Given the description of an element on the screen output the (x, y) to click on. 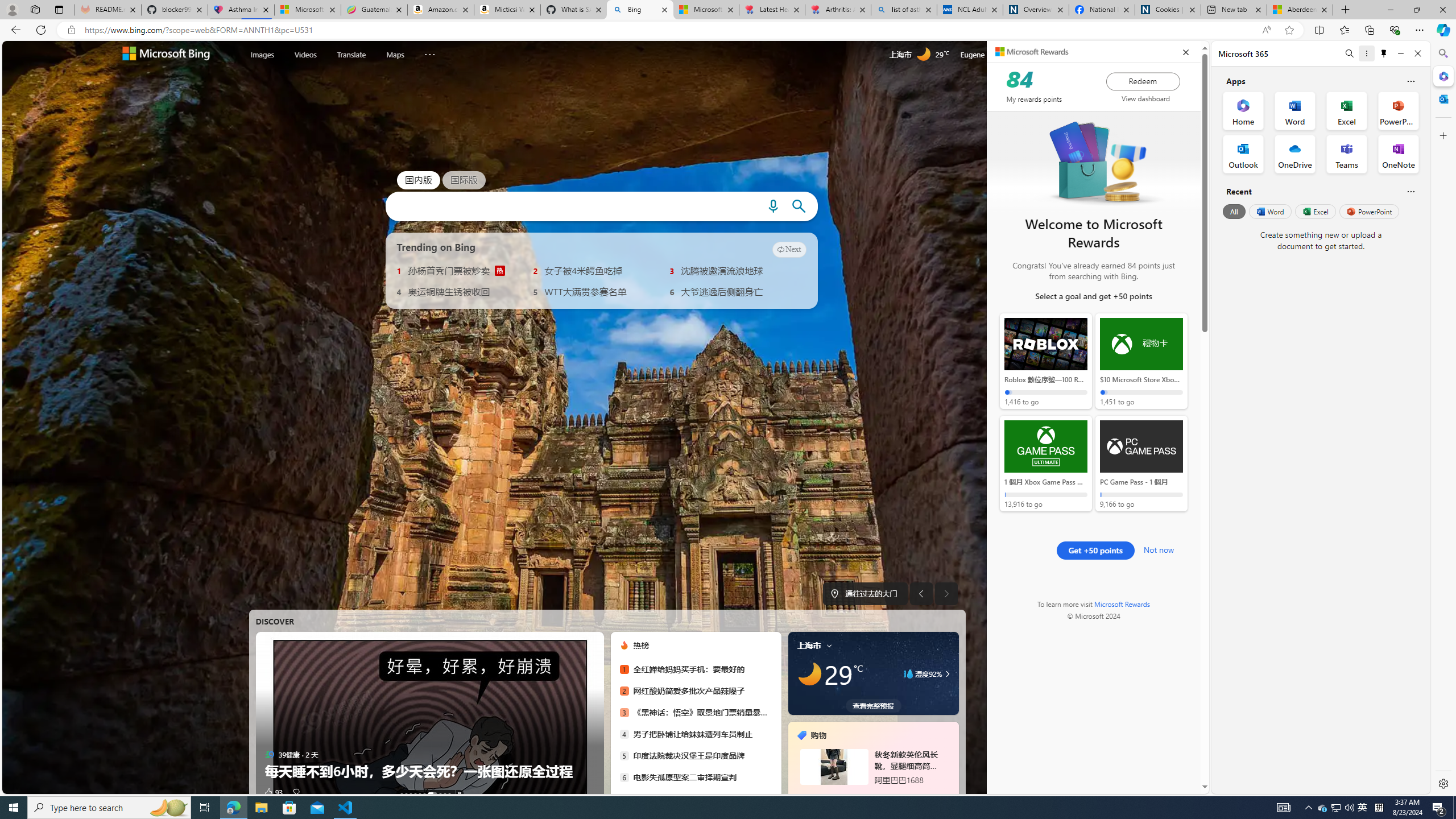
Bing (640, 9)
Class: scopes  (352, 53)
Excel Office App (1346, 110)
AutomationID: tab-3 (415, 793)
Aberdeen, Hong Kong SAR hourly forecast | Microsoft Weather (1300, 9)
View dashboard (1145, 98)
AutomationID: tab-8 (444, 793)
Word Office App (1295, 110)
Microsoft Rewards 84 (1033, 54)
